Given the description of an element on the screen output the (x, y) to click on. 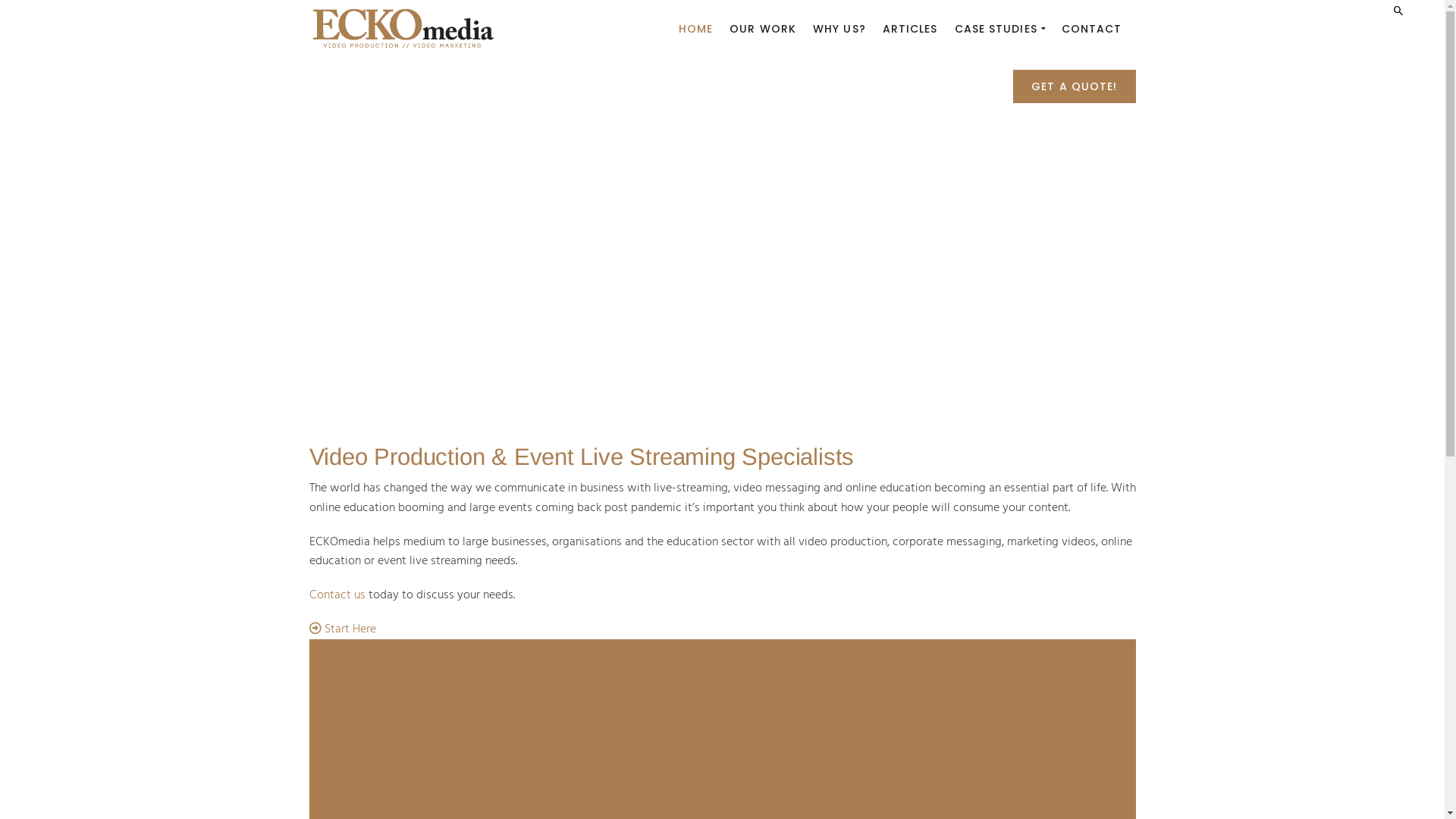
CASE STUDIES Element type: text (999, 29)
Contact us Element type: text (337, 595)
ARTICLES Element type: text (910, 29)
GET A QUOTE! Element type: text (1074, 87)
HOME Element type: text (695, 29)
CONTACT Element type: text (1091, 29)
WHY US? Element type: text (839, 29)
Start Here Element type: text (342, 629)
OUR WORK Element type: text (762, 29)
